Given the description of an element on the screen output the (x, y) to click on. 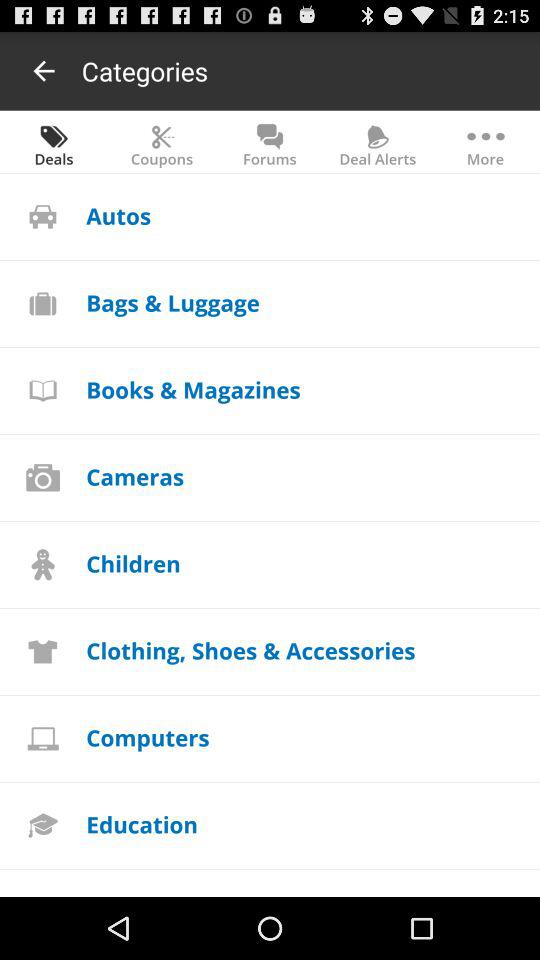
flip to categories (144, 70)
